Given the description of an element on the screen output the (x, y) to click on. 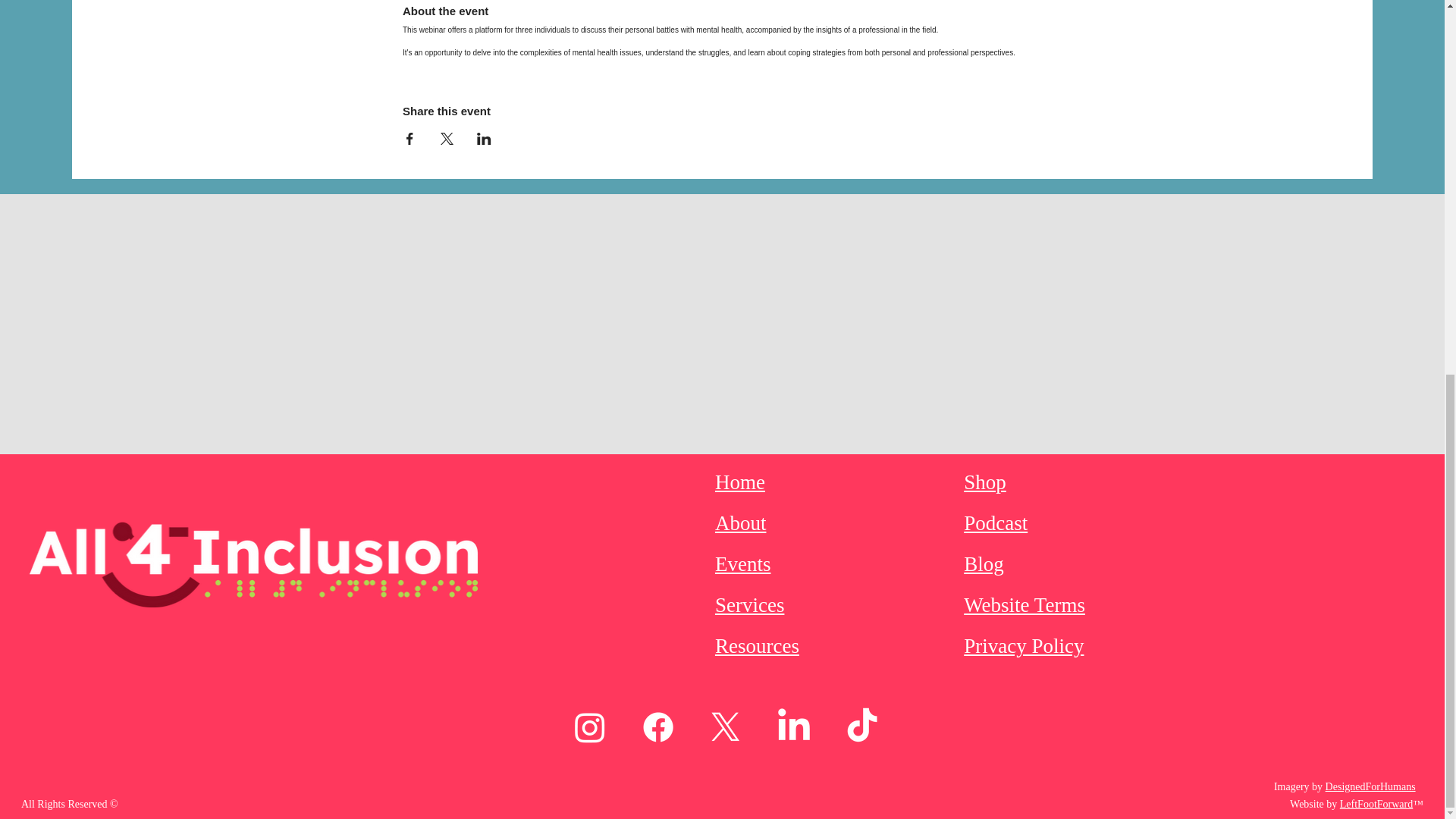
LeftFootForward (1375, 803)
Events (742, 563)
Podcast (995, 522)
Services (749, 604)
Website Terms (1023, 604)
Blog (983, 563)
DesignedForHumans (1369, 786)
About (740, 522)
Home (739, 481)
Shop (984, 481)
Resources (756, 645)
Privacy Policy (1023, 645)
